Given the description of an element on the screen output the (x, y) to click on. 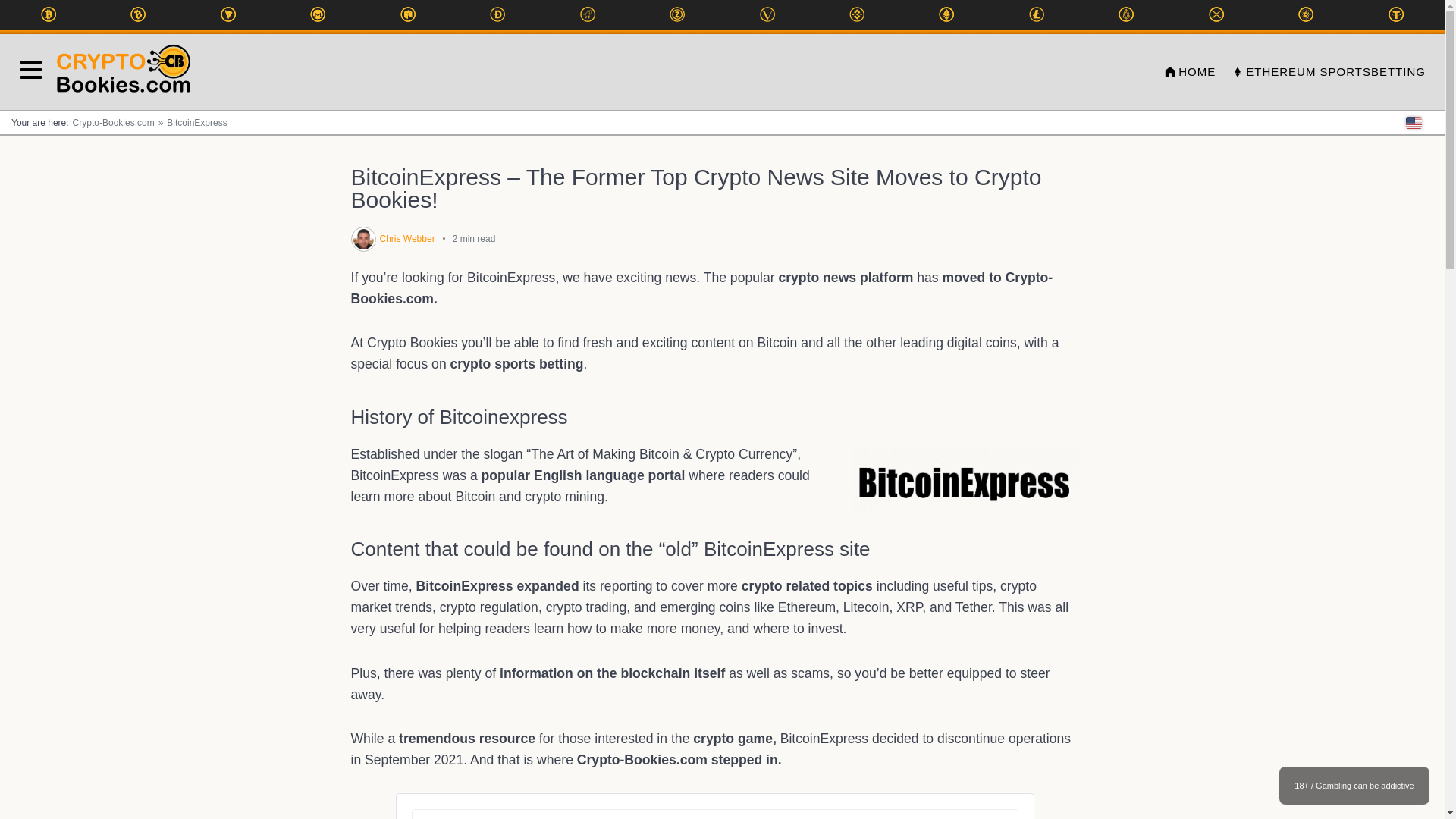
English Element type: hover (1413, 122)
Crypto-Bookies.com Element type: text (111, 122)
Crypto-Bookies.com Element type: hover (123, 71)
ETHEREUM SPORTSBETTING Element type: text (1328, 72)
HOME Element type: text (1189, 72)
BitcoinExpress Element type: text (190, 122)
